Given the description of an element on the screen output the (x, y) to click on. 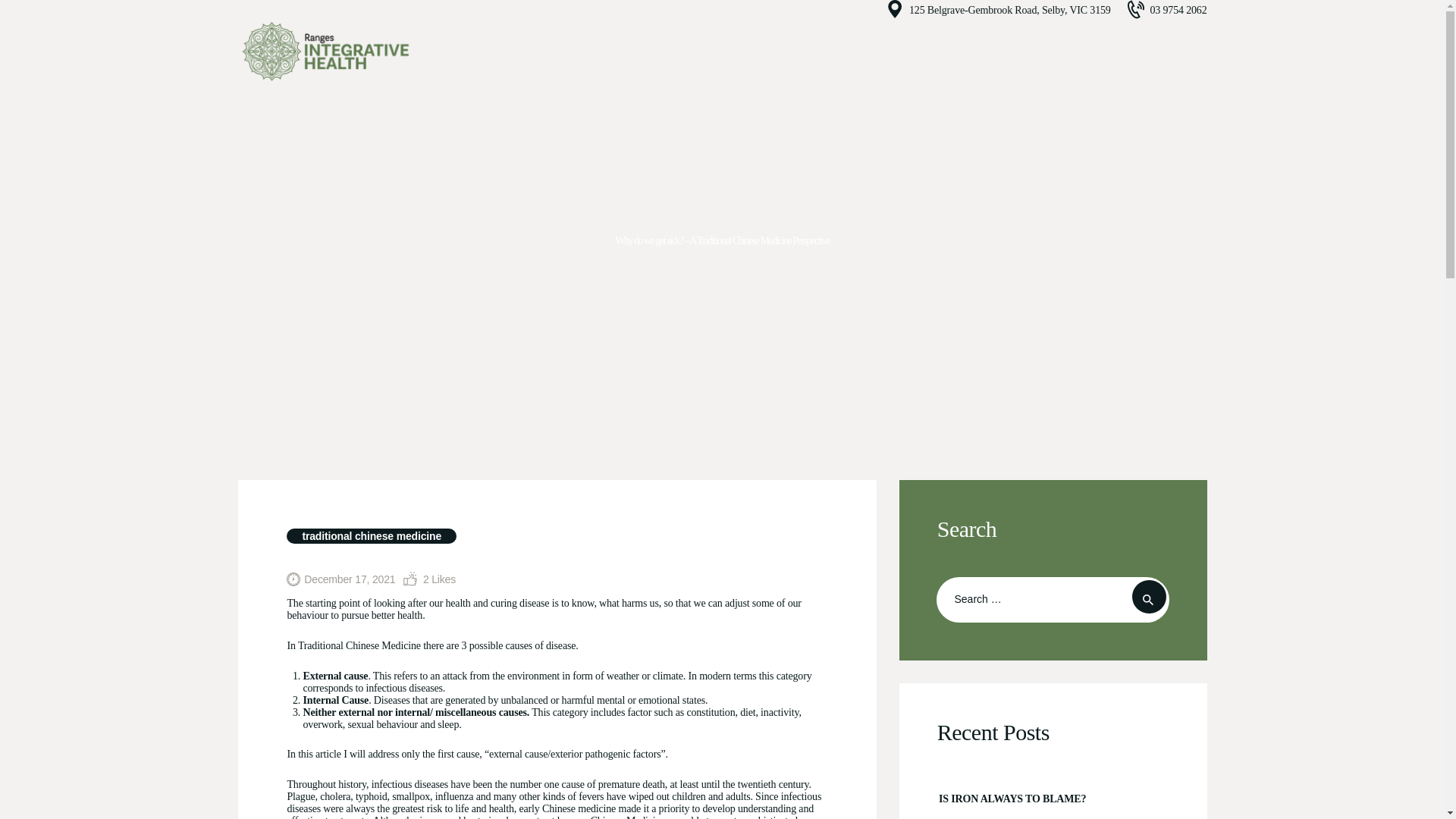
Search (1149, 596)
03 9754 2062 (1166, 9)
Search (1149, 596)
Like (429, 579)
